Given the description of an element on the screen output the (x, y) to click on. 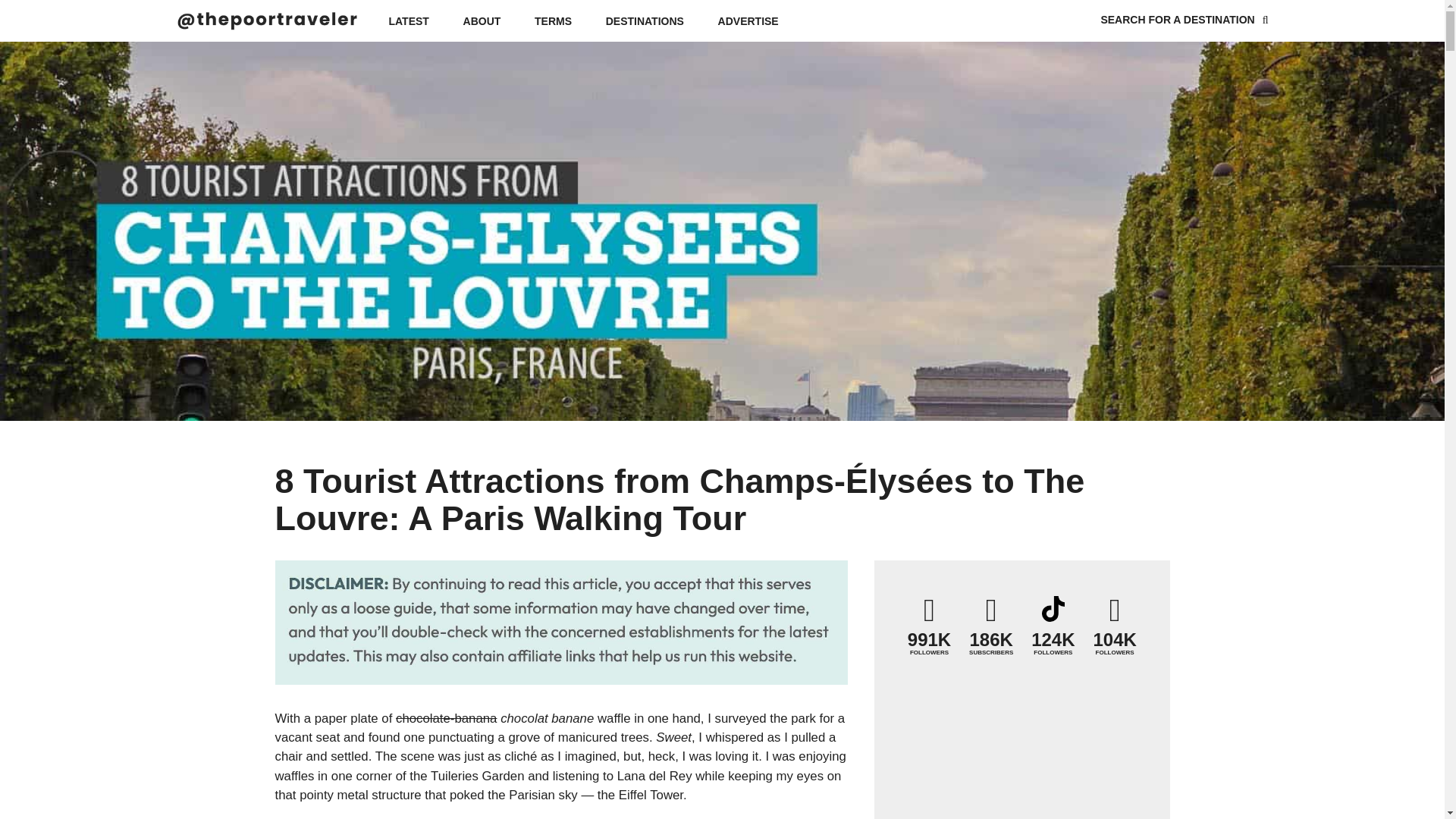
SEARCH FOR A DESTINATION (1184, 19)
